Given the description of an element on the screen output the (x, y) to click on. 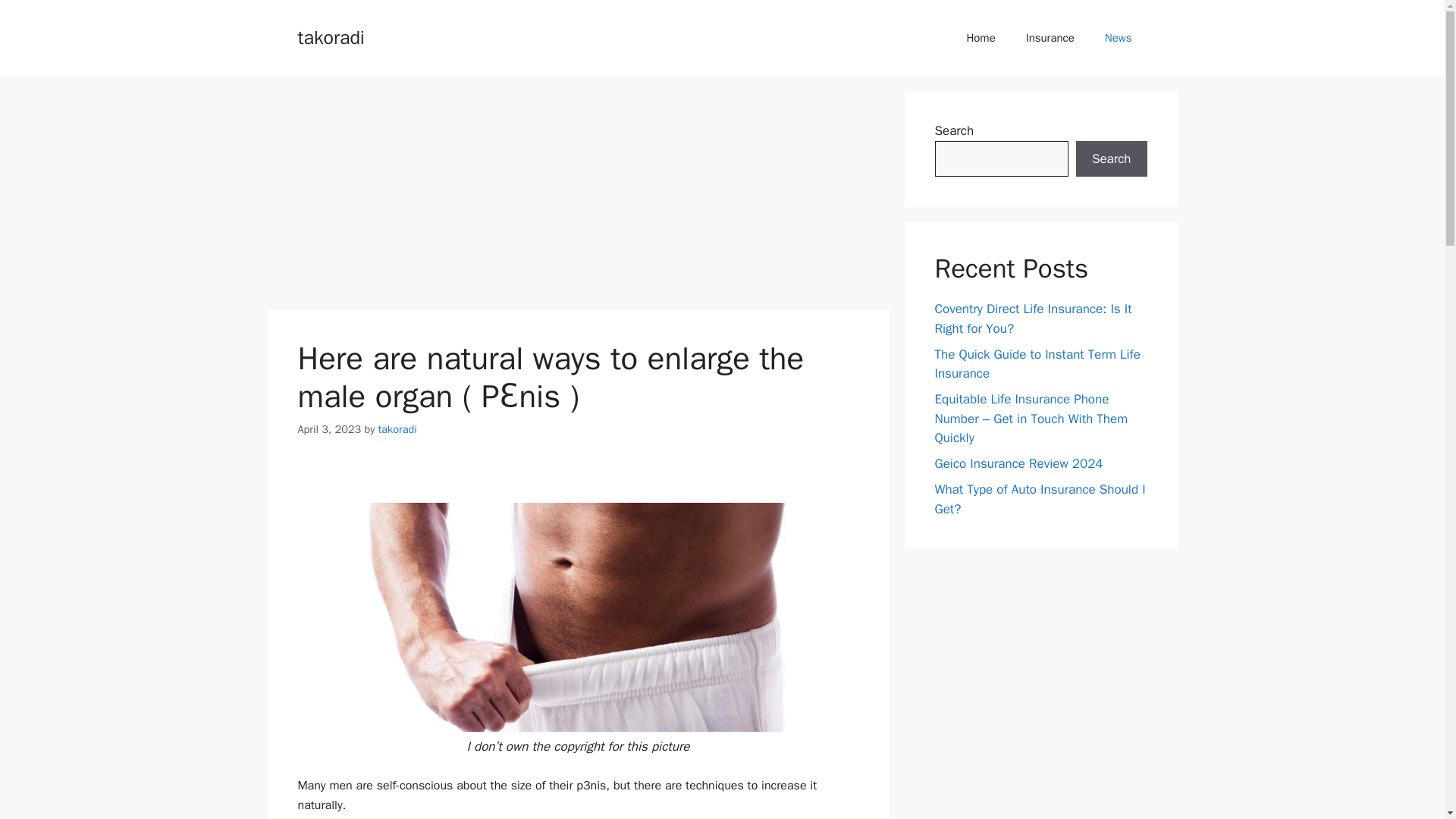
takoradi (397, 428)
Advertisement (577, 196)
View all posts by takoradi (397, 428)
takoradi (330, 37)
Geico Insurance Review 2024 (1018, 463)
What Type of Auto Insurance Should I Get? (1039, 498)
Home (980, 37)
Coventry Direct Life Insurance: Is It Right for You? (1032, 318)
News (1118, 37)
Insurance (1049, 37)
The Quick Guide to Instant Term Life Insurance (1037, 363)
Search (1111, 158)
